Given the description of an element on the screen output the (x, y) to click on. 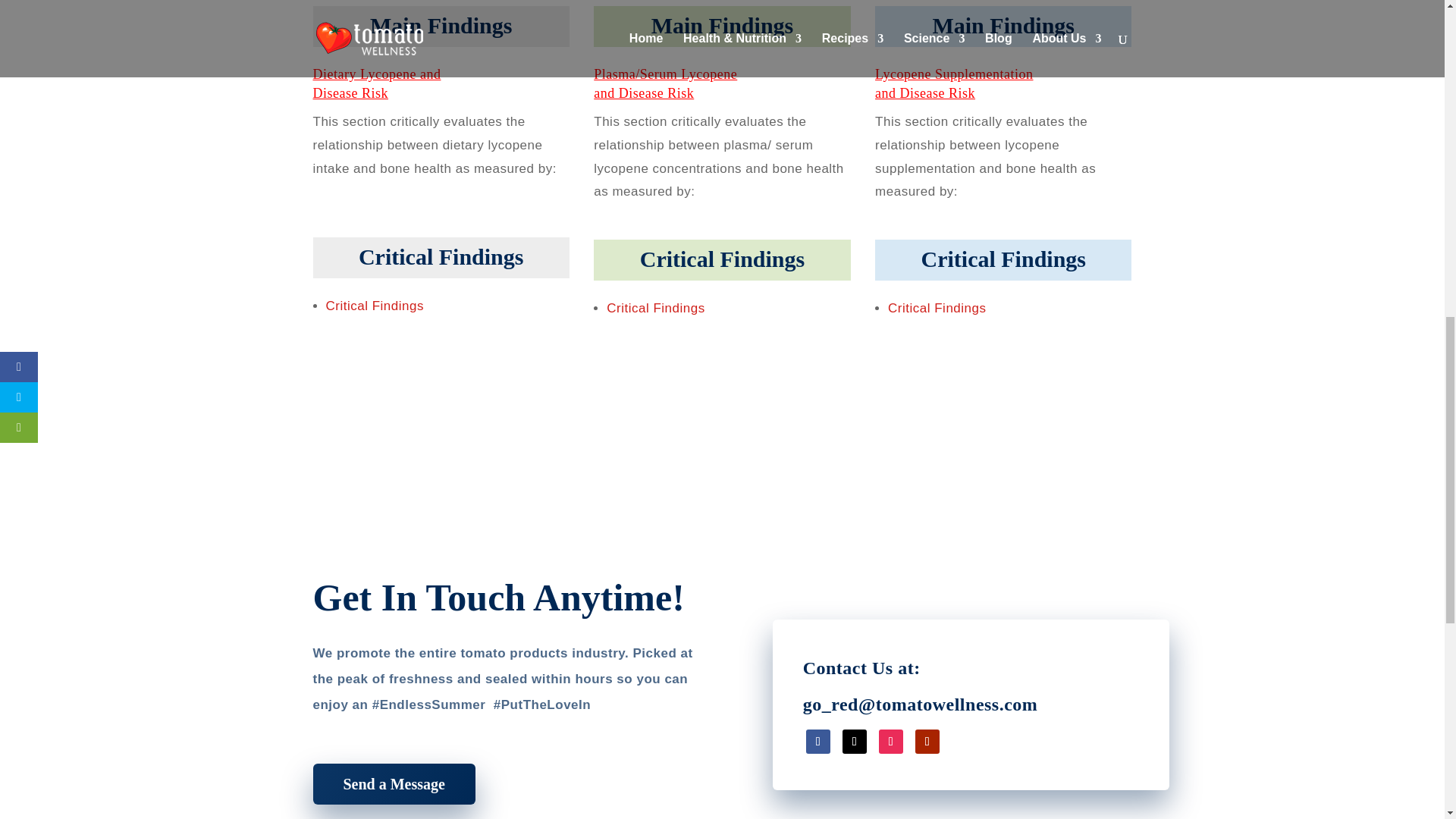
Follow on X (854, 741)
Follow on Instagram (890, 741)
Follow on Facebook (817, 741)
Follow on Youtube (927, 741)
